Given the description of an element on the screen output the (x, y) to click on. 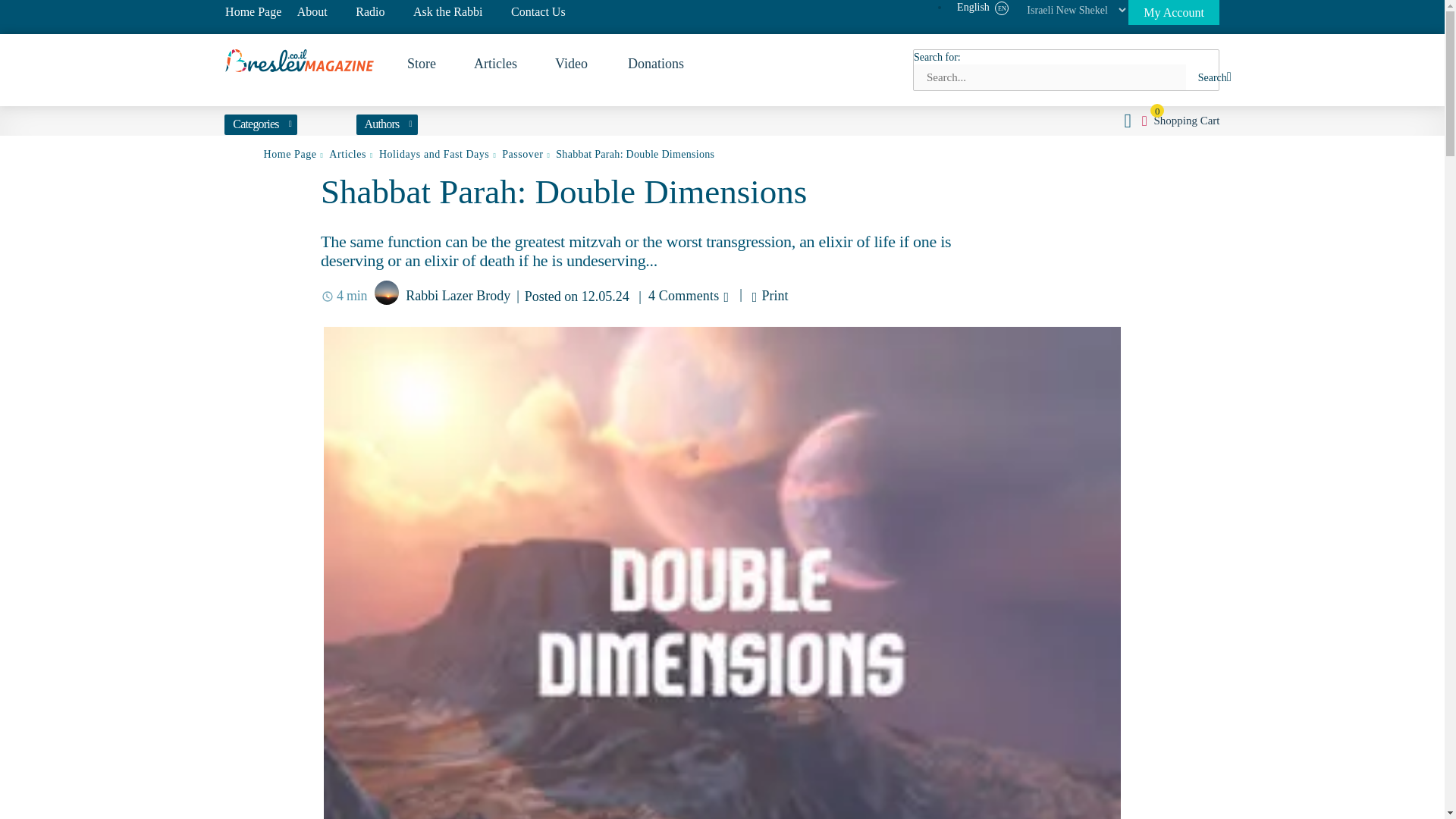
About (312, 11)
Store (421, 63)
Contact Us (538, 11)
Home Page (253, 11)
My Account (1173, 11)
Radio (369, 11)
English EN (982, 8)
Ask the Rabbi (448, 11)
